Given the description of an element on the screen output the (x, y) to click on. 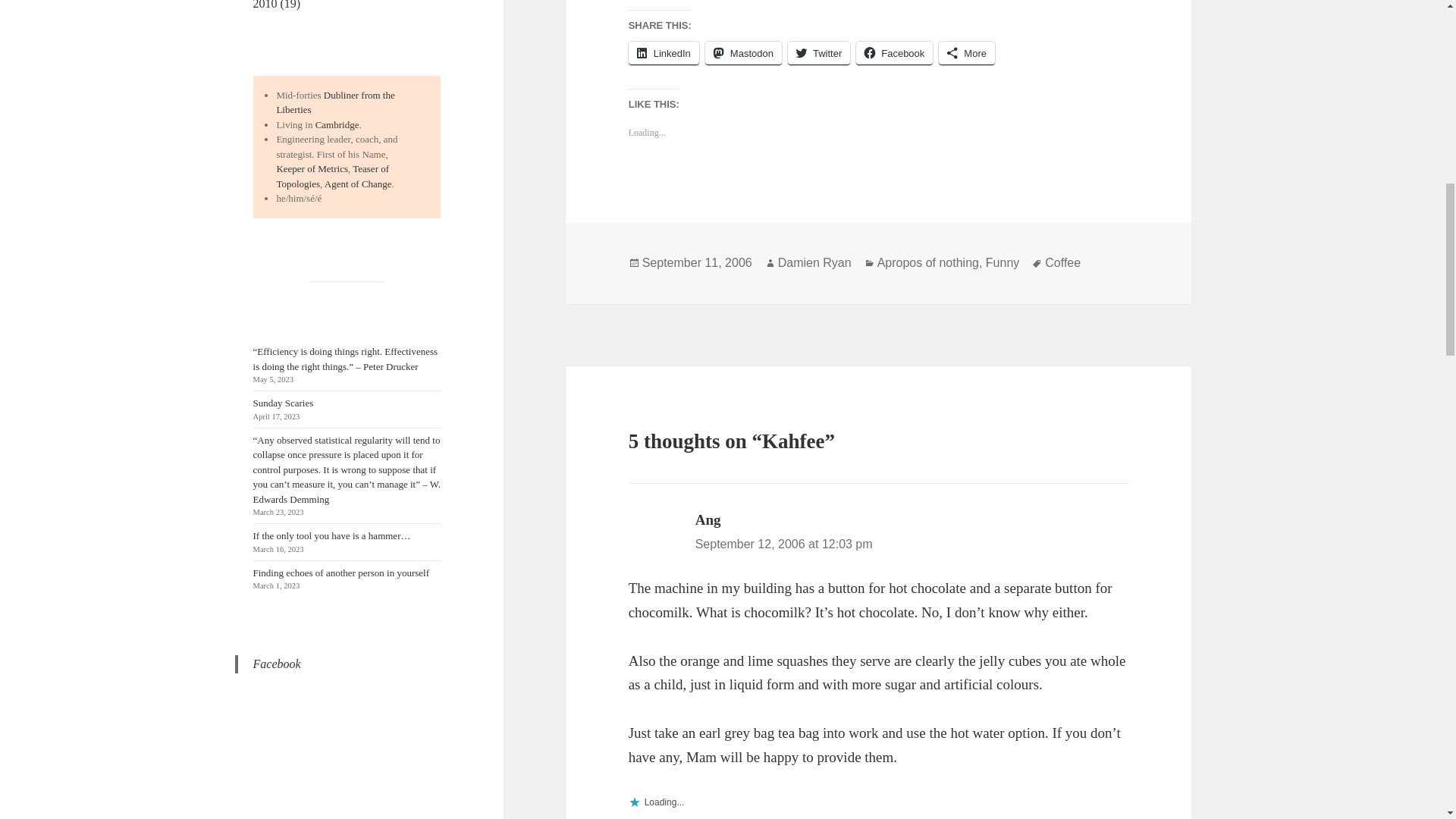
Click to share on Facebook (894, 53)
Mastodon (742, 53)
Facebook (277, 663)
Twitter (818, 53)
More (966, 53)
Teaser of Topologies (332, 175)
LinkedIn (663, 53)
Click to share on Twitter (818, 53)
Facebook (894, 53)
Click to share on Mastodon (742, 53)
